Given the description of an element on the screen output the (x, y) to click on. 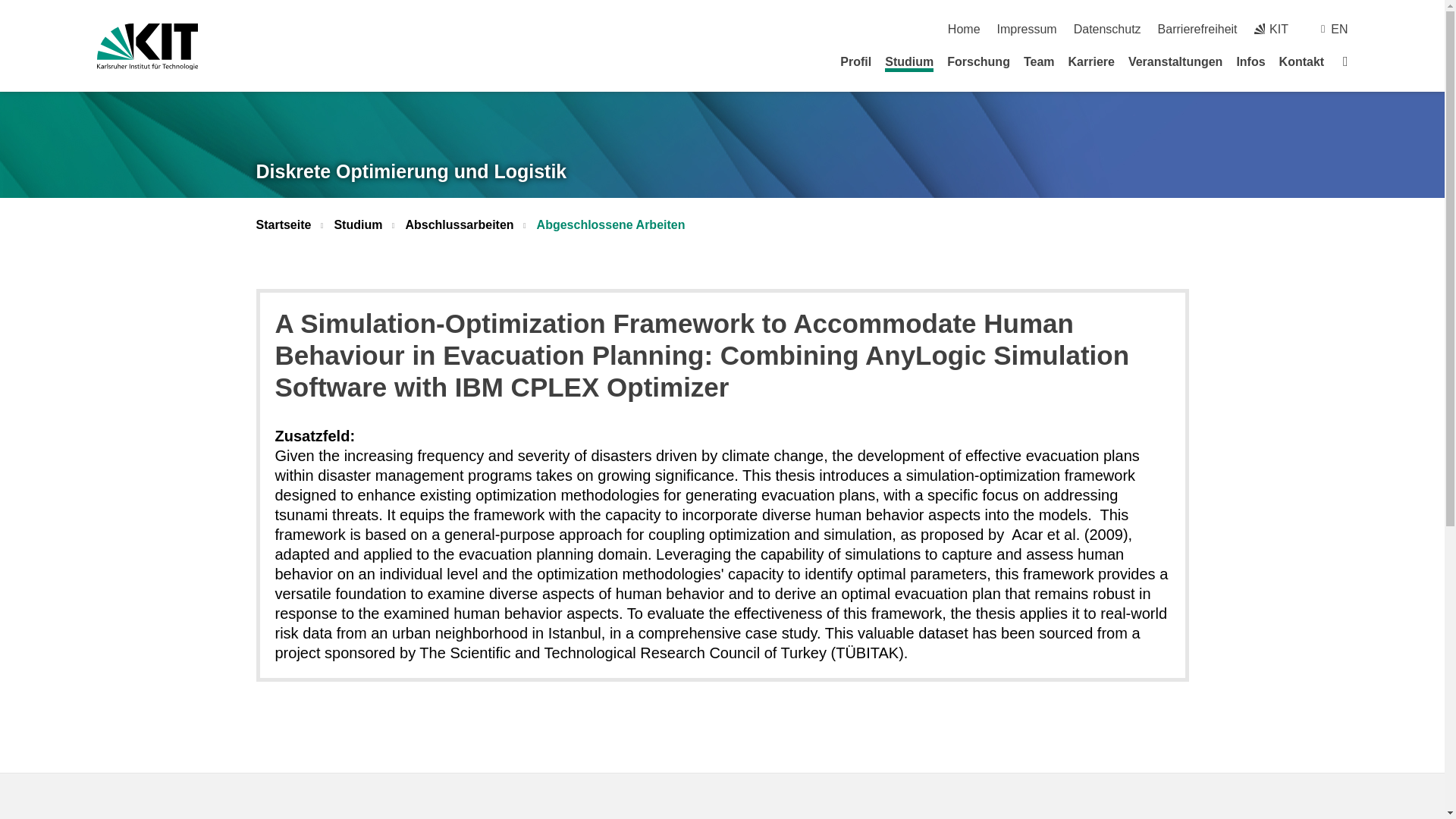
EN (1339, 29)
Startseite (963, 29)
KIT (1270, 29)
Datenschutz (1107, 29)
Studium (909, 63)
Diskrete Optimierung und Logistik (411, 171)
KIT-Homepage (1270, 29)
Impressum (1027, 29)
Forschung (978, 61)
KIT-Homepage (147, 46)
Home (963, 29)
Barrierefreiheit (1197, 29)
Profil (855, 61)
